Given the description of an element on the screen output the (x, y) to click on. 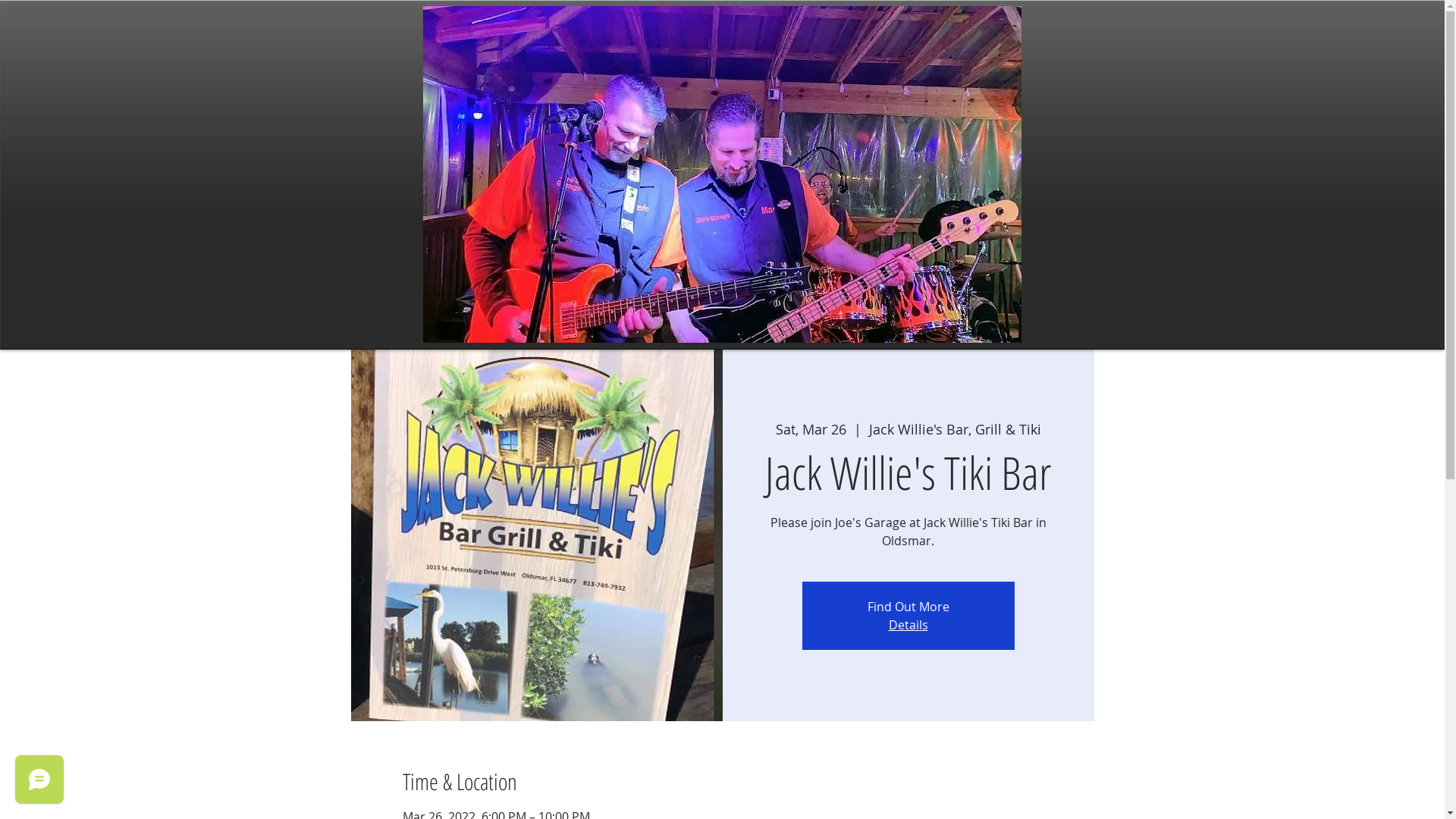
Details Element type: text (908, 624)
